Given the description of an element on the screen output the (x, y) to click on. 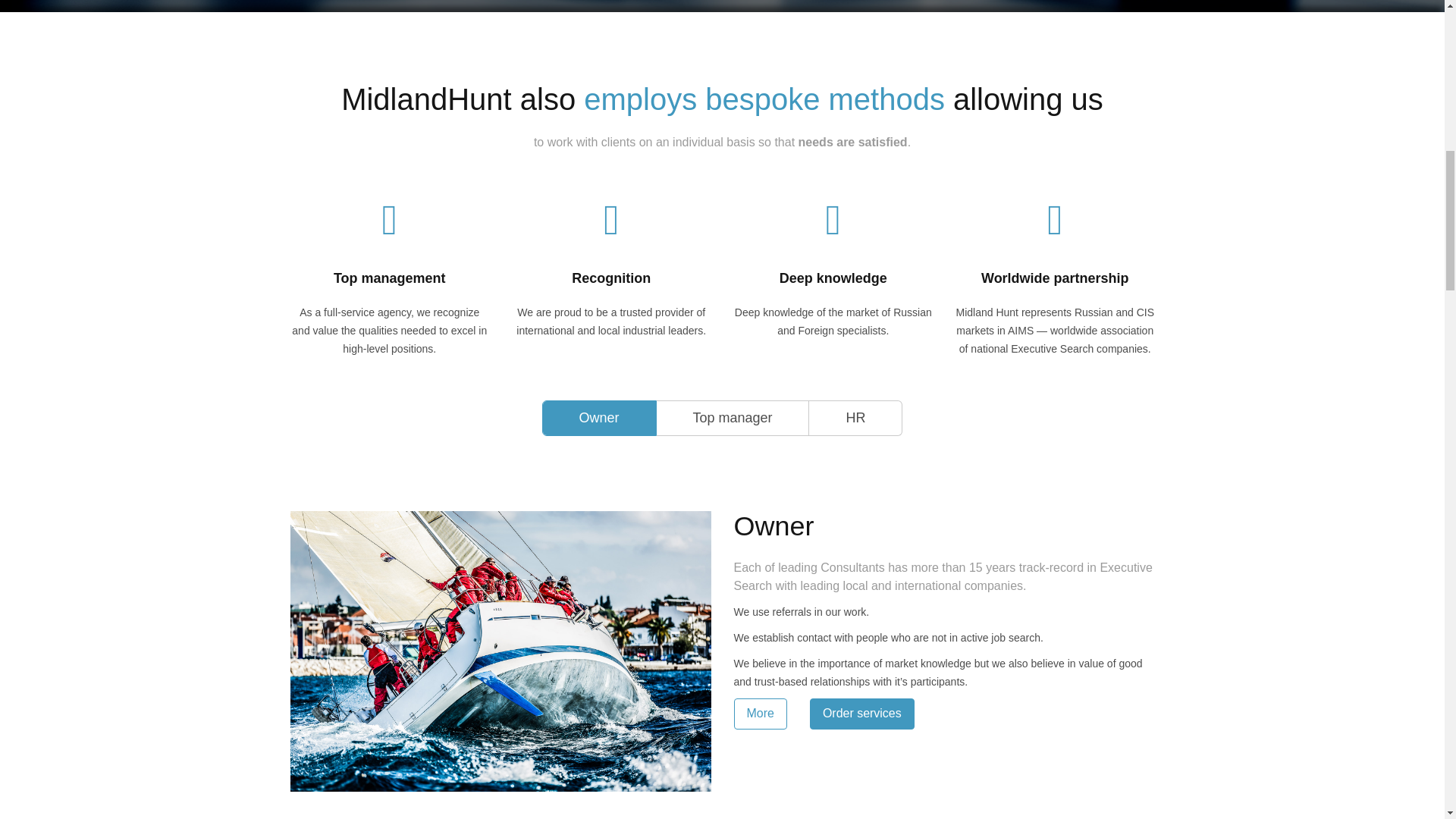
More (762, 713)
Owner (599, 418)
Order services (864, 713)
Top manager (732, 418)
HR (855, 418)
